Given the description of an element on the screen output the (x, y) to click on. 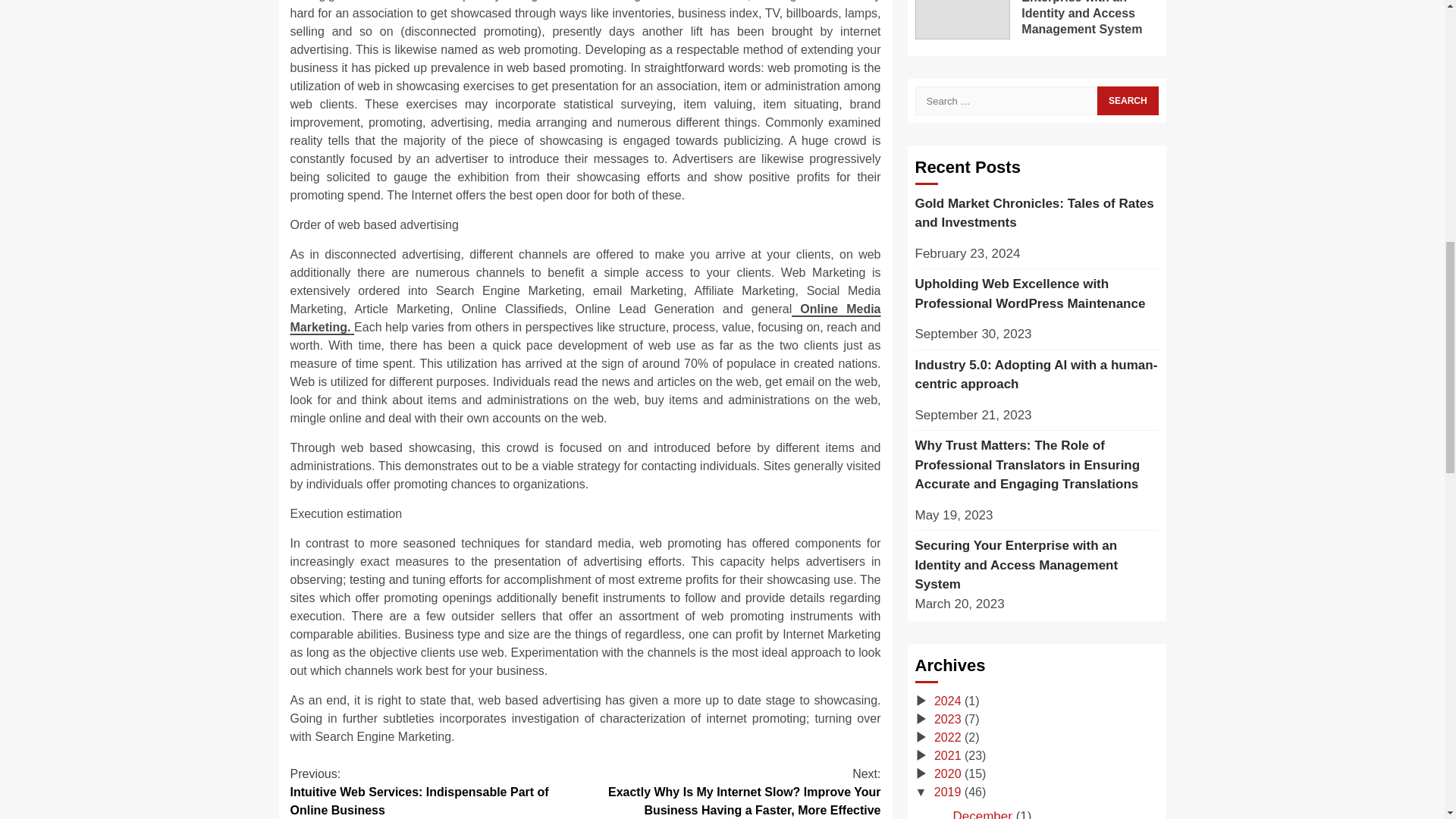
Search (1127, 100)
Online Media Marketing. (584, 317)
Search (1127, 100)
